Given the description of an element on the screen output the (x, y) to click on. 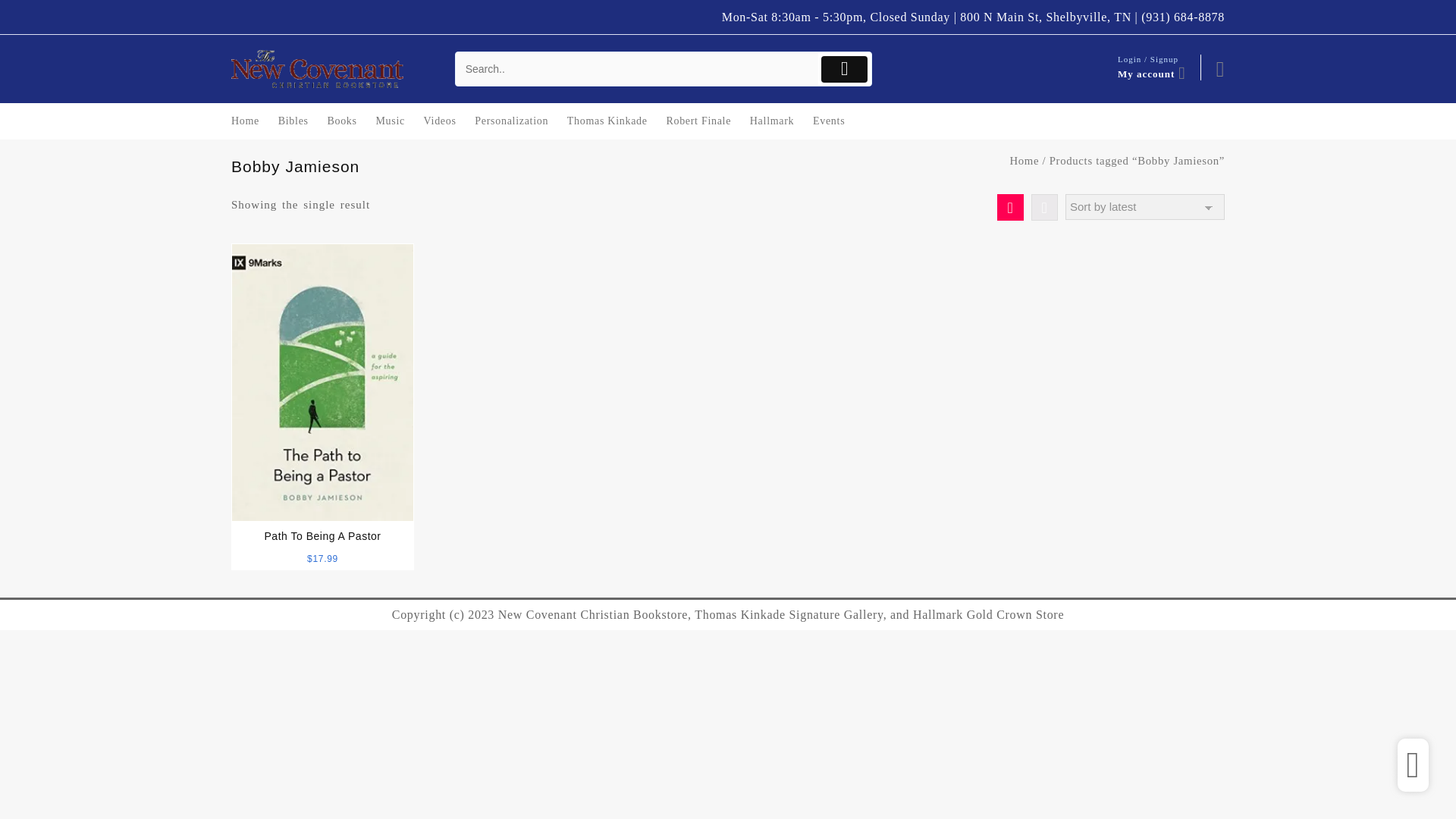
Grid View (1010, 207)
List View (1044, 207)
Search (636, 69)
800 N Main St, Shelbyville, TN (1045, 16)
Submit (844, 69)
